Given the description of an element on the screen output the (x, y) to click on. 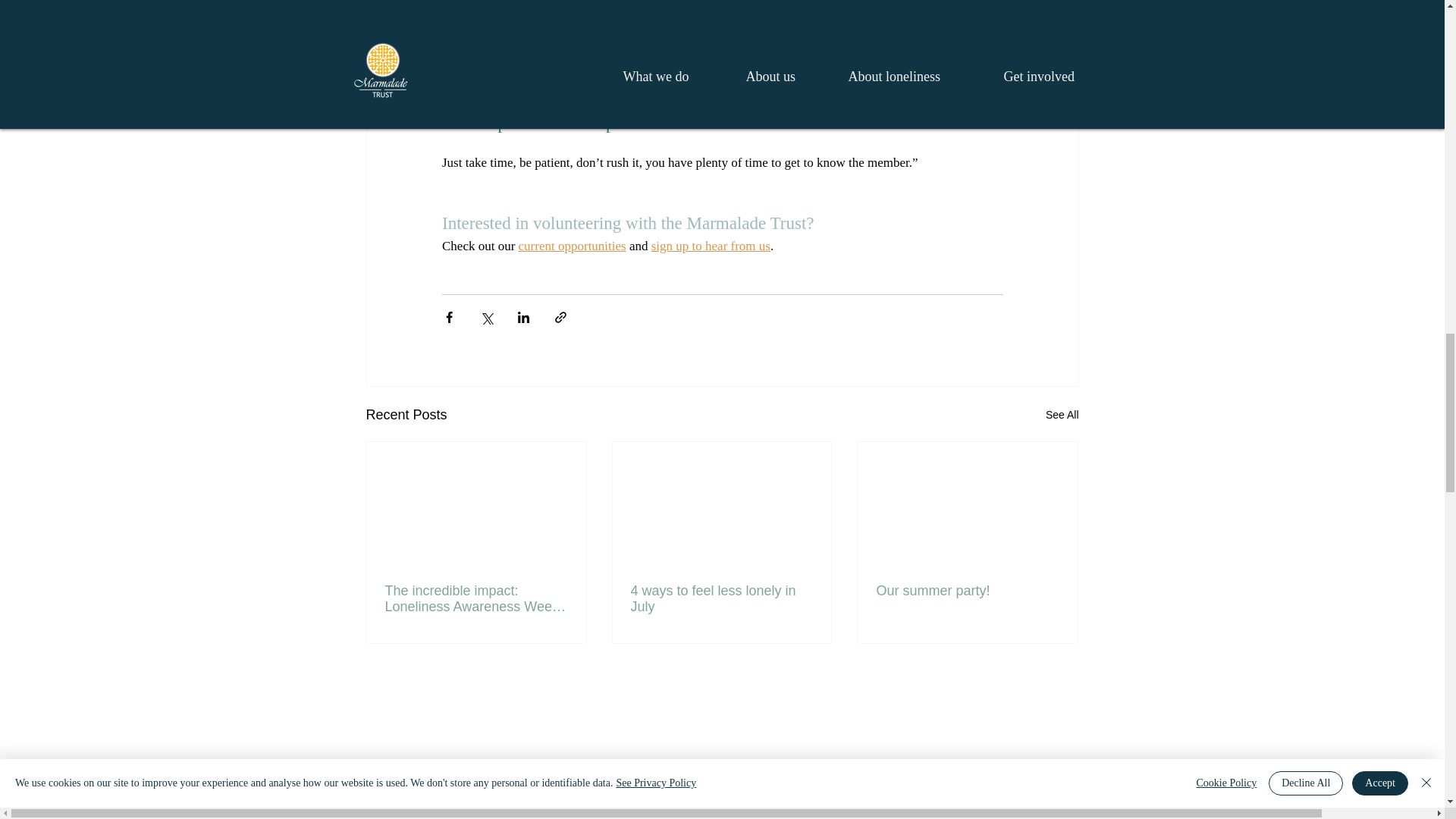
4 ways to feel less lonely in July (721, 599)
See All (1061, 414)
current opportunities (572, 246)
Our summer party! (967, 590)
sign up to hear from us (710, 246)
The incredible impact: Loneliness Awareness Week 2024 (476, 599)
